Given the description of an element on the screen output the (x, y) to click on. 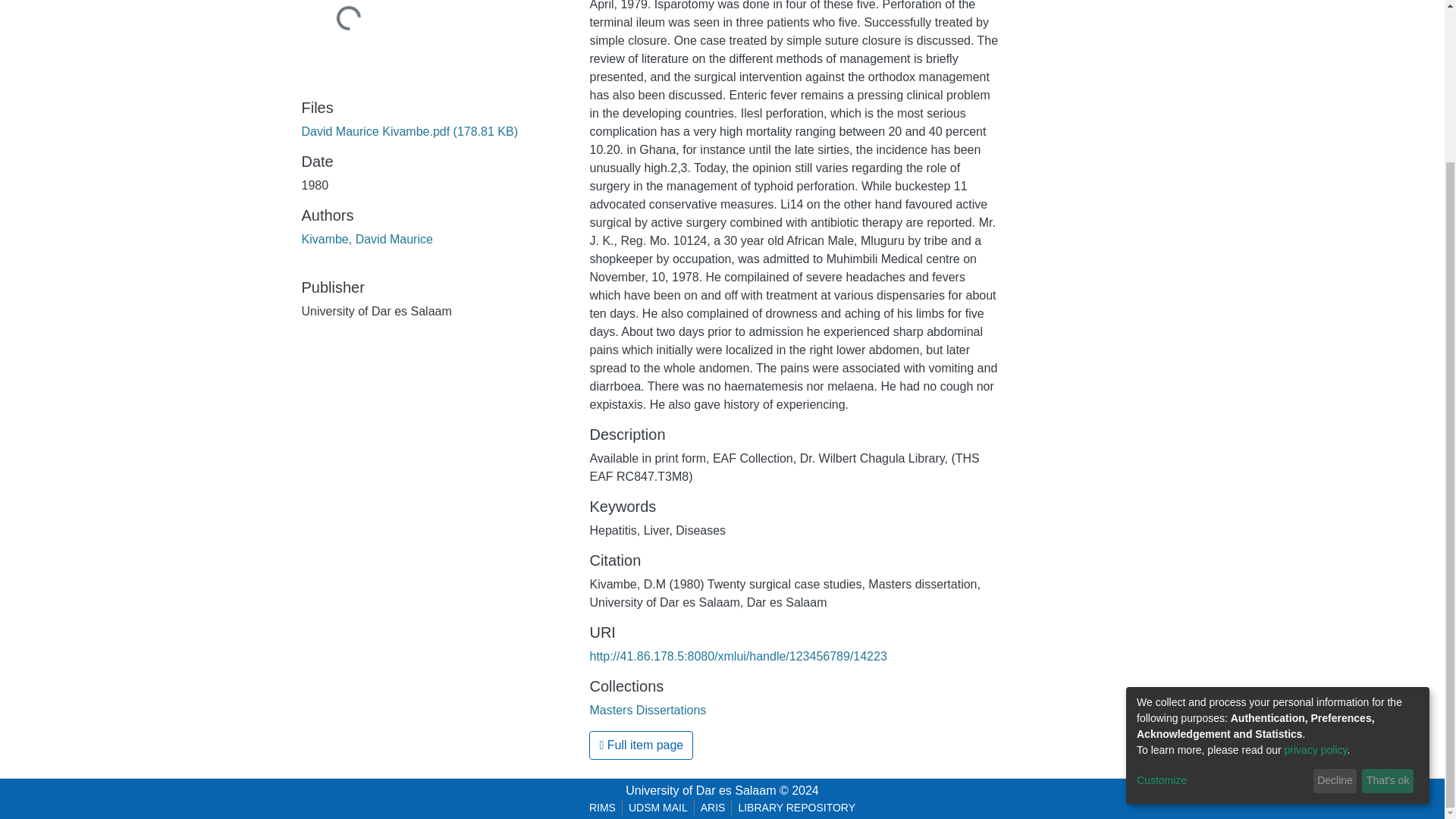
ARIS (713, 807)
Masters Dissertations (647, 709)
Kivambe, David Maurice (366, 238)
Customize (1222, 589)
LIBRARY REPOSITORY (796, 807)
privacy policy (1316, 558)
UDSM MAIL (658, 807)
Full item page (641, 745)
Decline (1334, 589)
RIMS (602, 807)
That's ok (1387, 589)
